Given the description of an element on the screen output the (x, y) to click on. 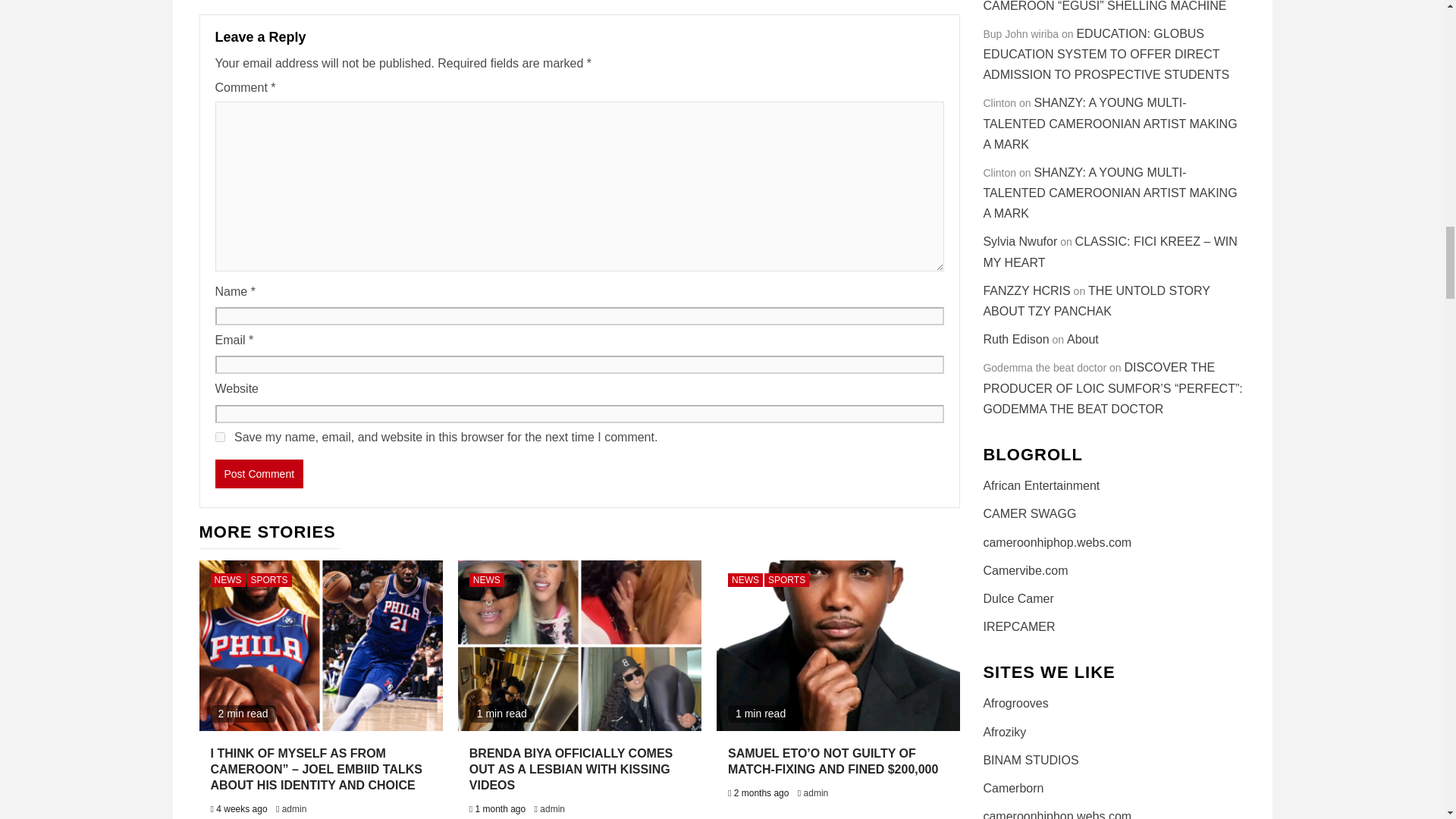
NEWS (228, 580)
Entertainment website (1004, 731)
Post Comment (259, 473)
yes (220, 437)
Profiles Cameroonians and their works (1018, 626)
cameroonian social network (1012, 788)
Post Comment (259, 473)
